Given the description of an element on the screen output the (x, y) to click on. 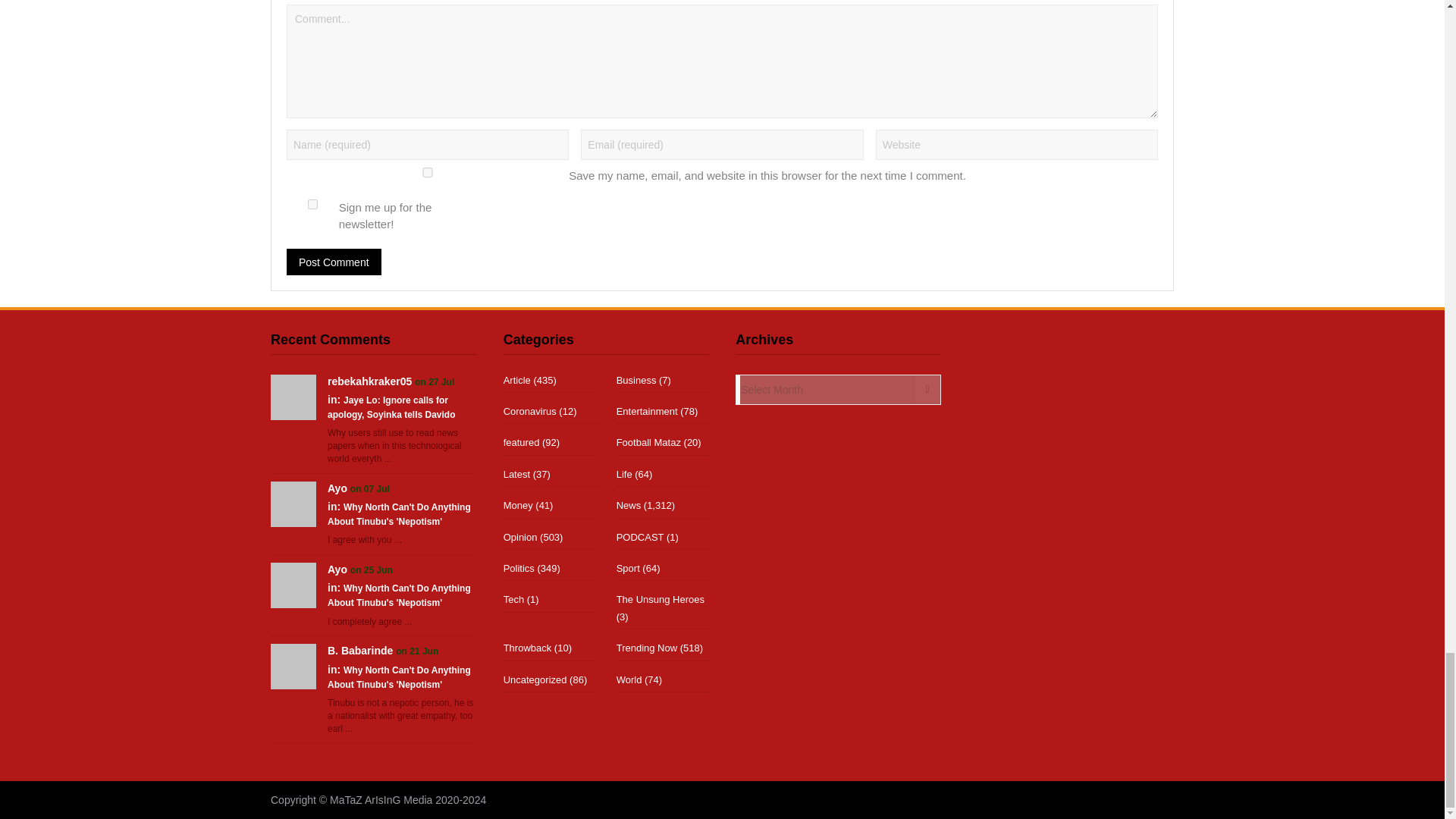
1 (312, 204)
Ayo on Why North Can't Do Anything About Tinubu's 'Nepotism' (292, 502)
Post Comment (333, 261)
yes (427, 172)
